Given the description of an element on the screen output the (x, y) to click on. 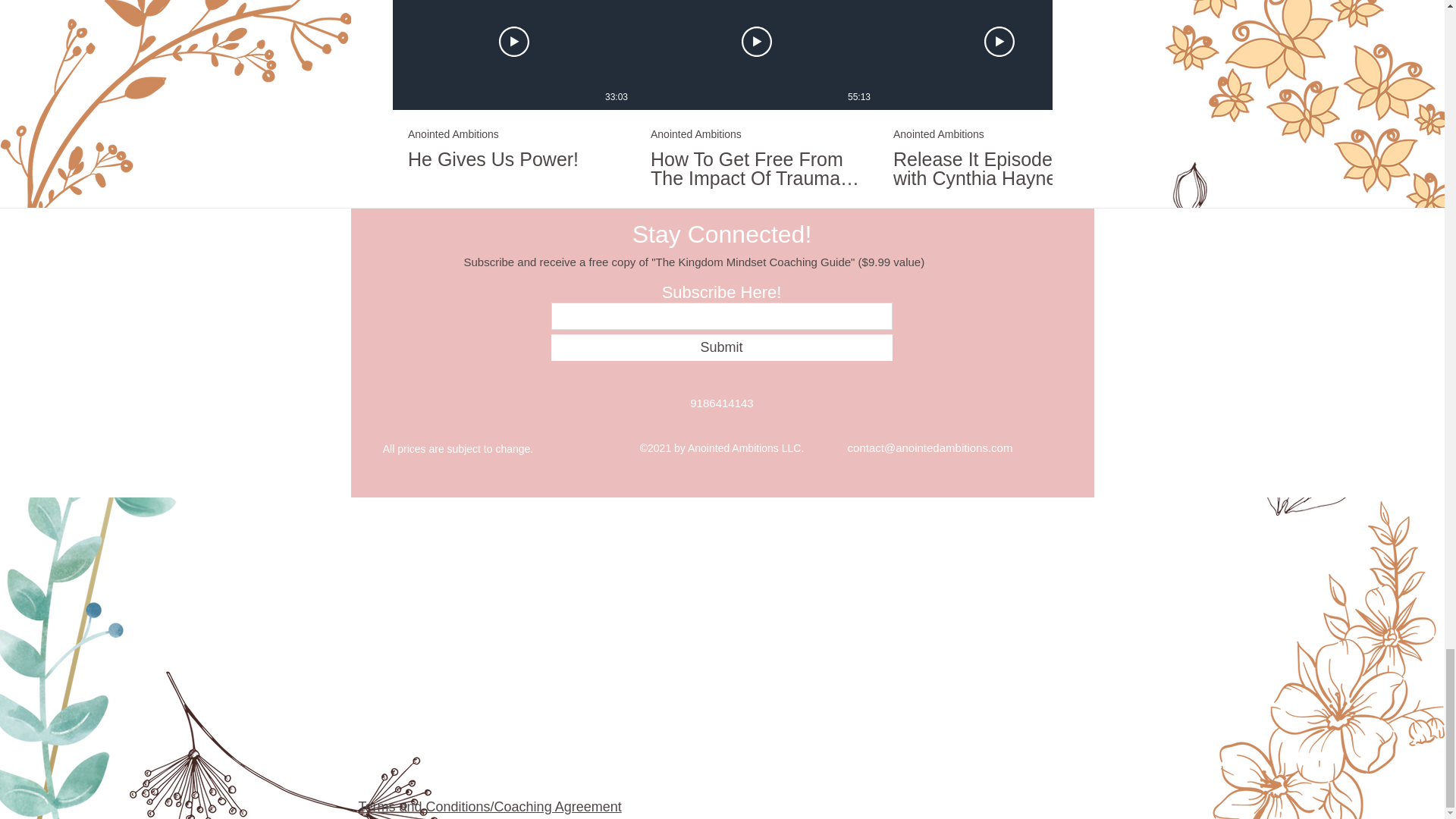
He Gives Us Power! (513, 159)
Release It Episode 2 with Cynthia Haynes (513, 139)
